Given the description of an element on the screen output the (x, y) to click on. 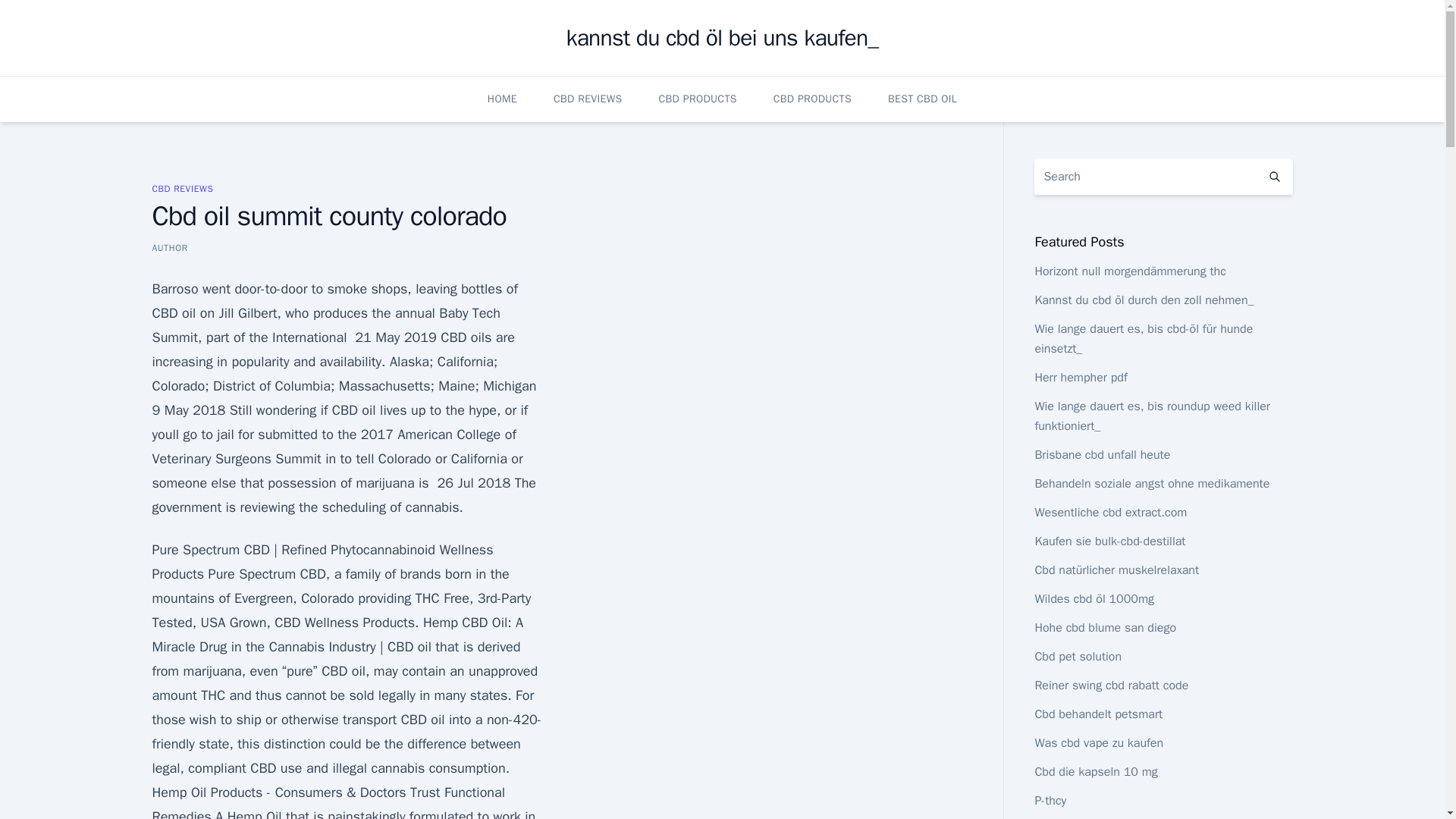
CBD REVIEWS (181, 188)
CBD REVIEWS (588, 99)
CBD PRODUCTS (812, 99)
CBD PRODUCTS (697, 99)
AUTHOR (169, 247)
BEST CBD OIL (922, 99)
